Given the description of an element on the screen output the (x, y) to click on. 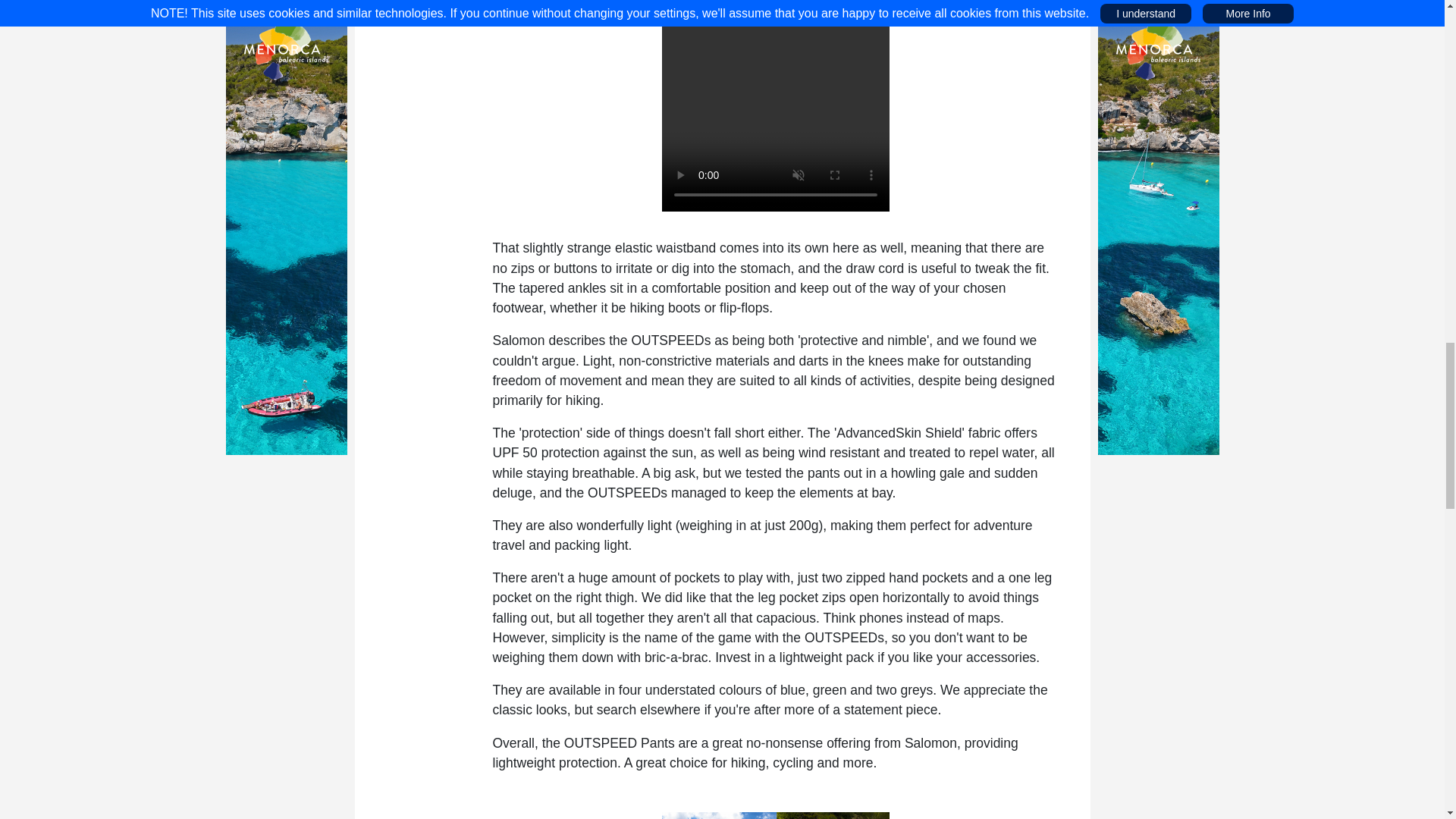
Val d'Aran MPU April 24 (775, 815)
